Given the description of an element on the screen output the (x, y) to click on. 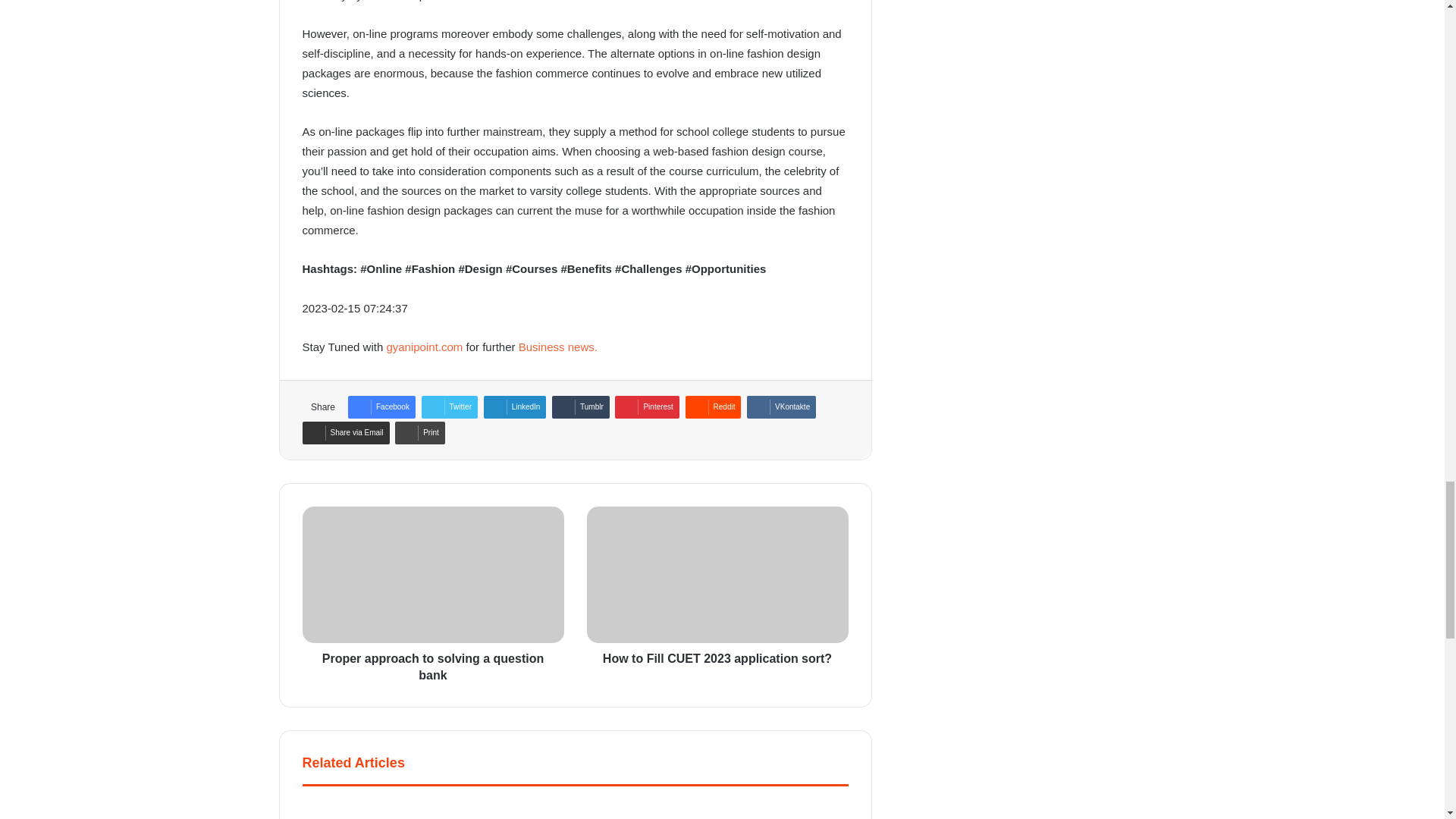
Facebook (380, 406)
Business news. (557, 346)
Twitter (449, 406)
gyanipoint.com (424, 346)
LinkedIn (515, 406)
